Given the description of an element on the screen output the (x, y) to click on. 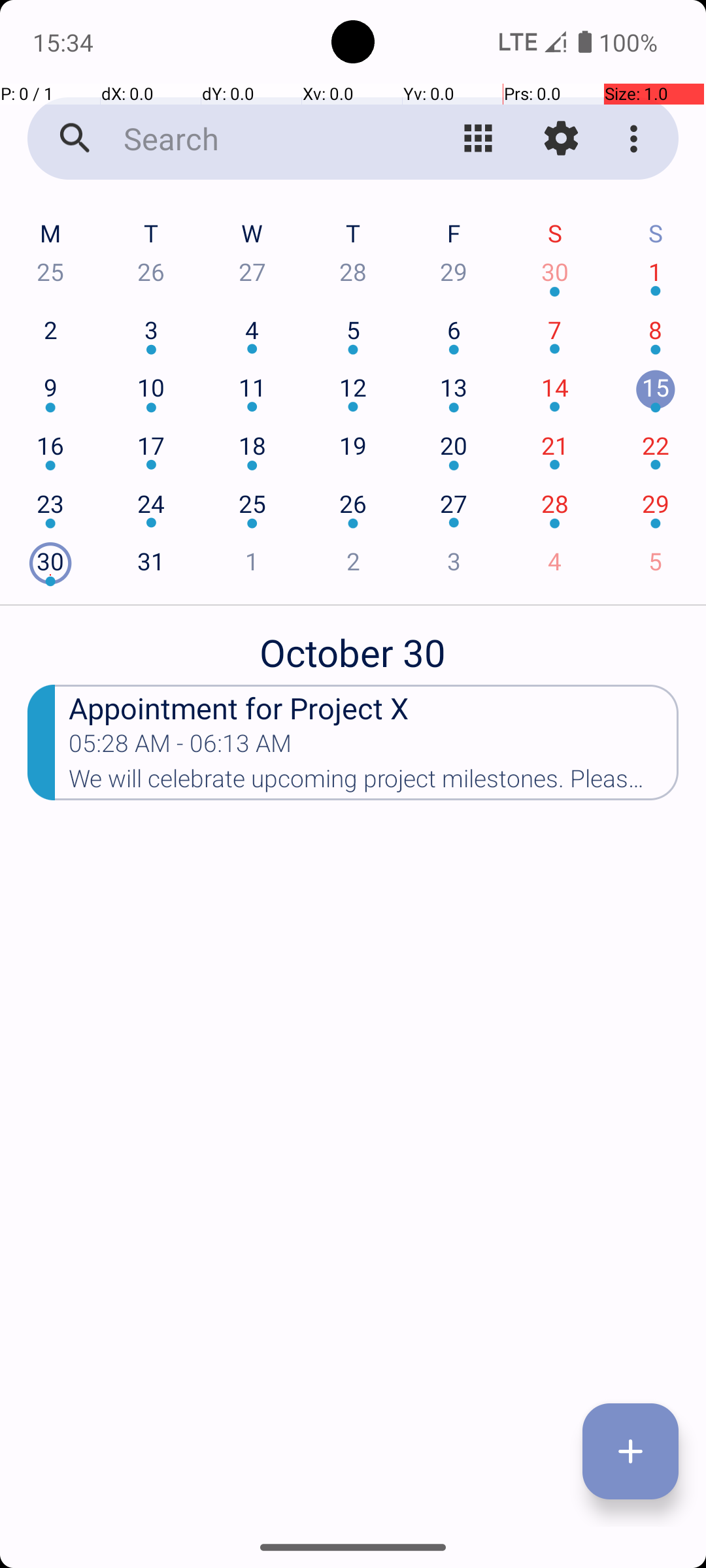
October 30 Element type: android.widget.TextView (352, 644)
05:28 AM - 06:13 AM Element type: android.widget.TextView (179, 747)
We will celebrate upcoming project milestones. Please bring relevant documents. Element type: android.widget.TextView (373, 782)
